Given the description of an element on the screen output the (x, y) to click on. 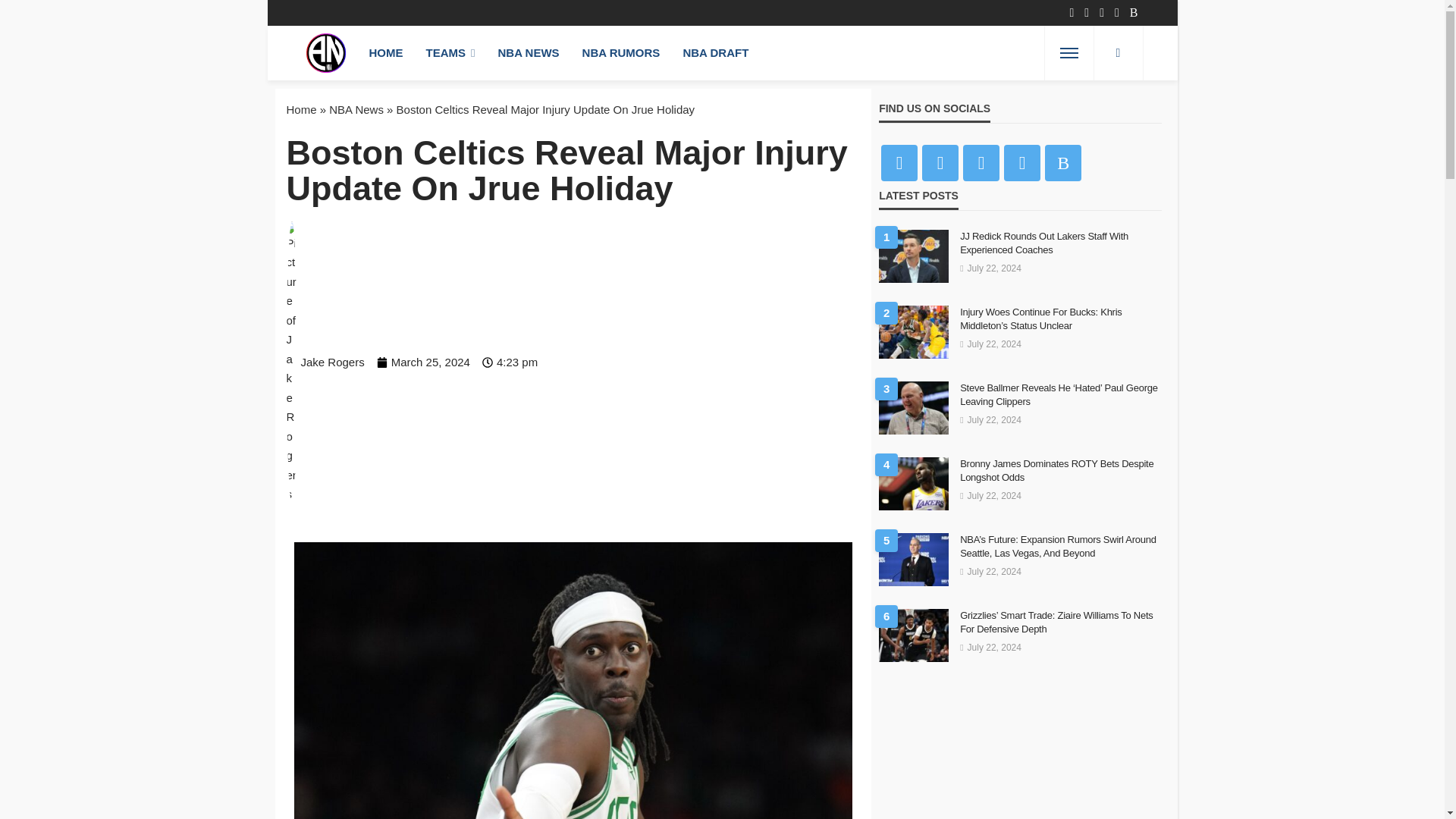
JJ Redick Rounds Out Lakers Staff With Experienced Coaches (1060, 243)
HOME (386, 52)
NBA Analysis Network (325, 52)
TEAMS (449, 52)
JJ Redick Rounds Out Lakers Staff With Experienced Coaches (914, 256)
